Given the description of an element on the screen output the (x, y) to click on. 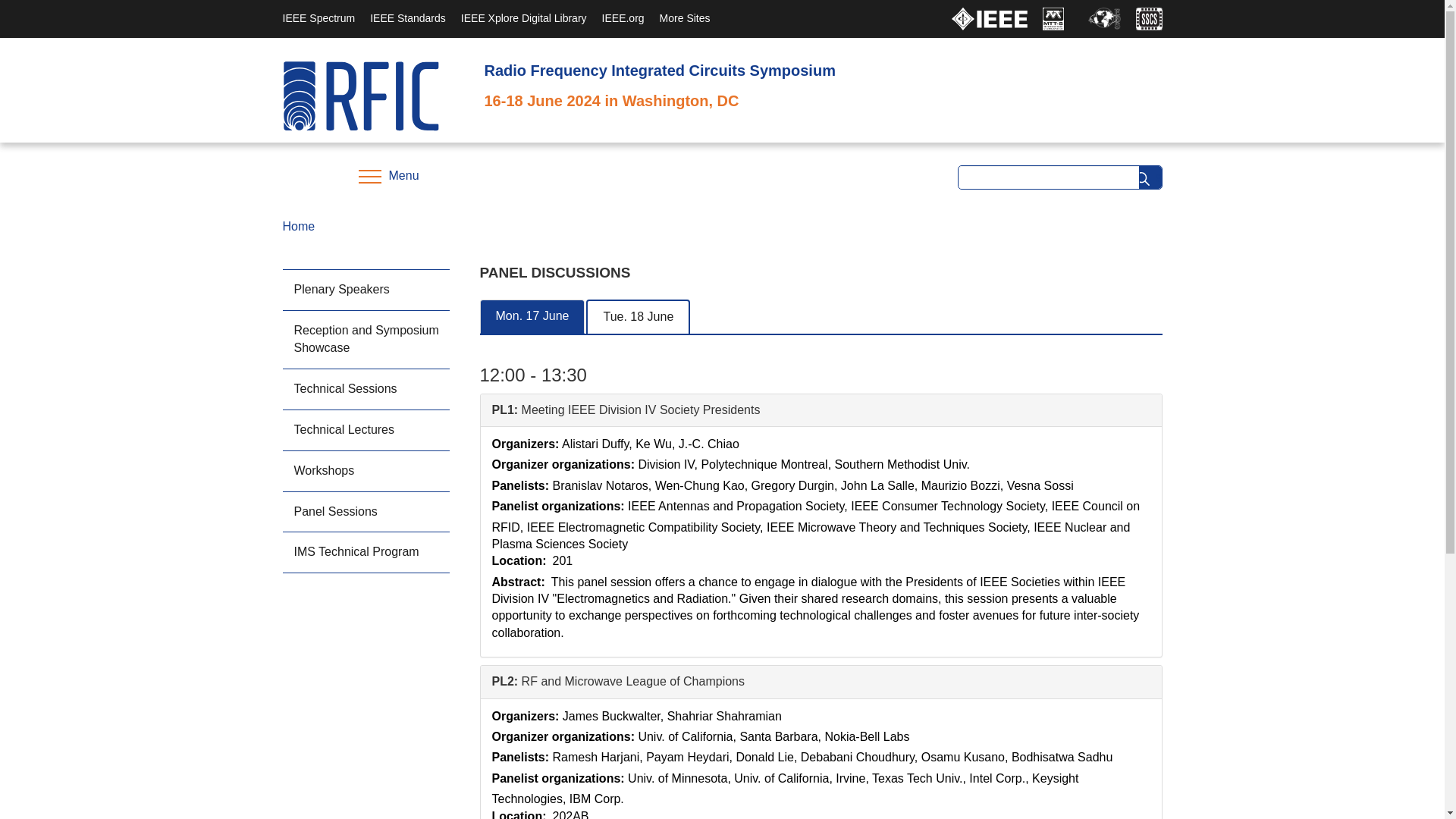
IEEE Xplore Digital Library (523, 18)
More Sites (684, 18)
IEEE.org (623, 18)
EDS logo (1103, 18)
IEEE (988, 18)
MTT-S (1052, 18)
SSCS logo (1148, 18)
Home (360, 95)
IEEE Standards (407, 18)
IEEE Spectrum (318, 18)
